Given the description of an element on the screen output the (x, y) to click on. 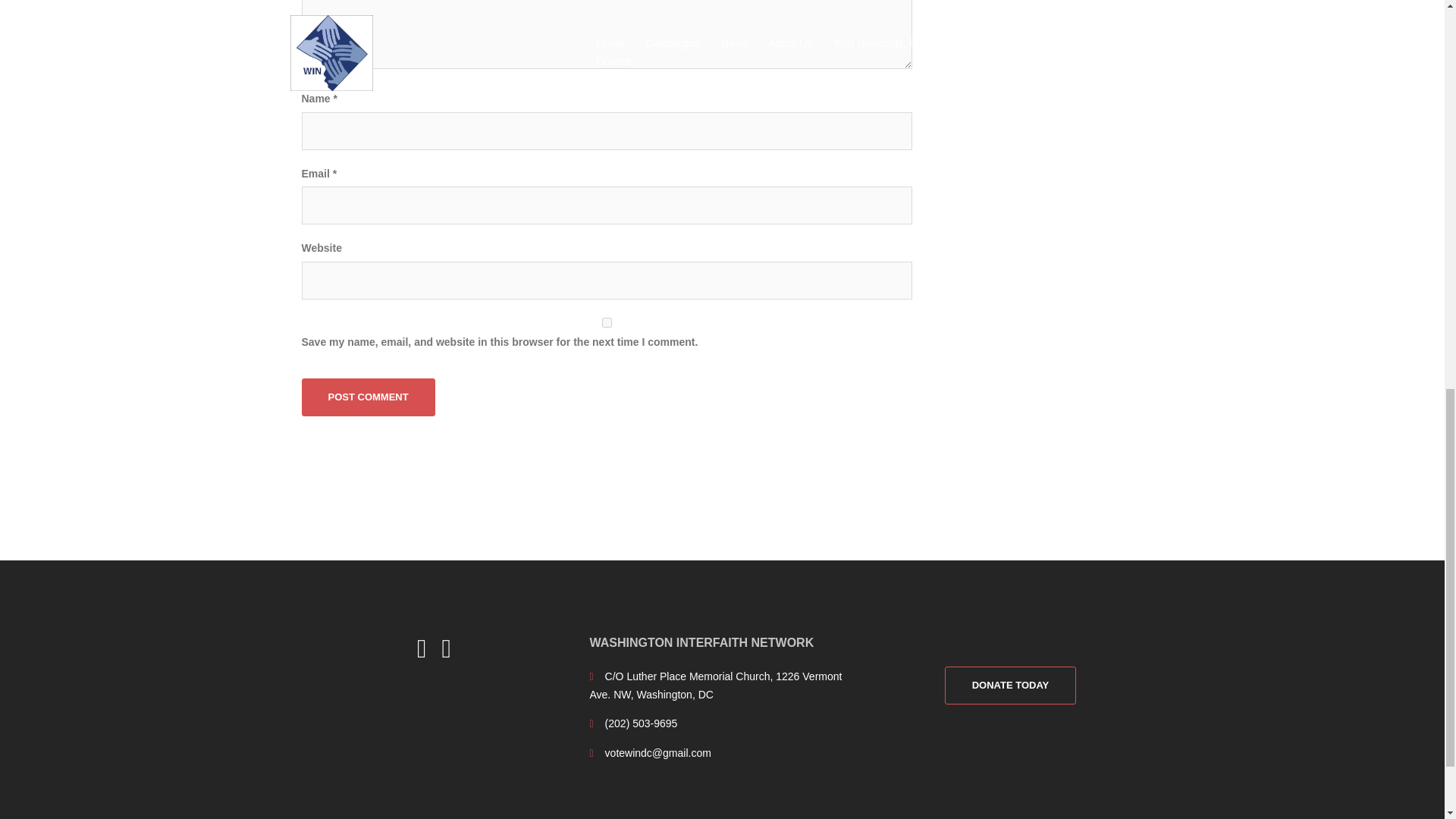
yes (606, 322)
Post Comment (368, 397)
